Given the description of an element on the screen output the (x, y) to click on. 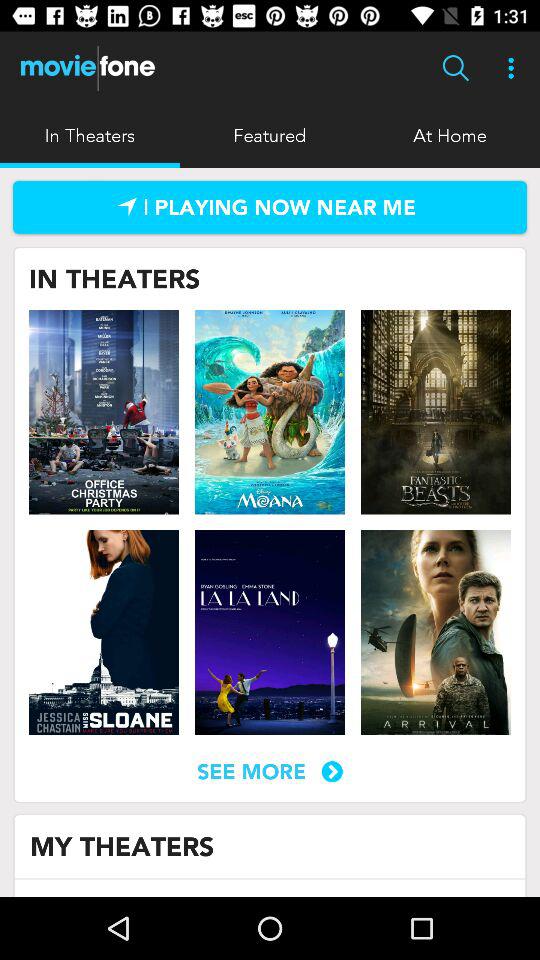
swipe to my theaters item (122, 846)
